Given the description of an element on the screen output the (x, y) to click on. 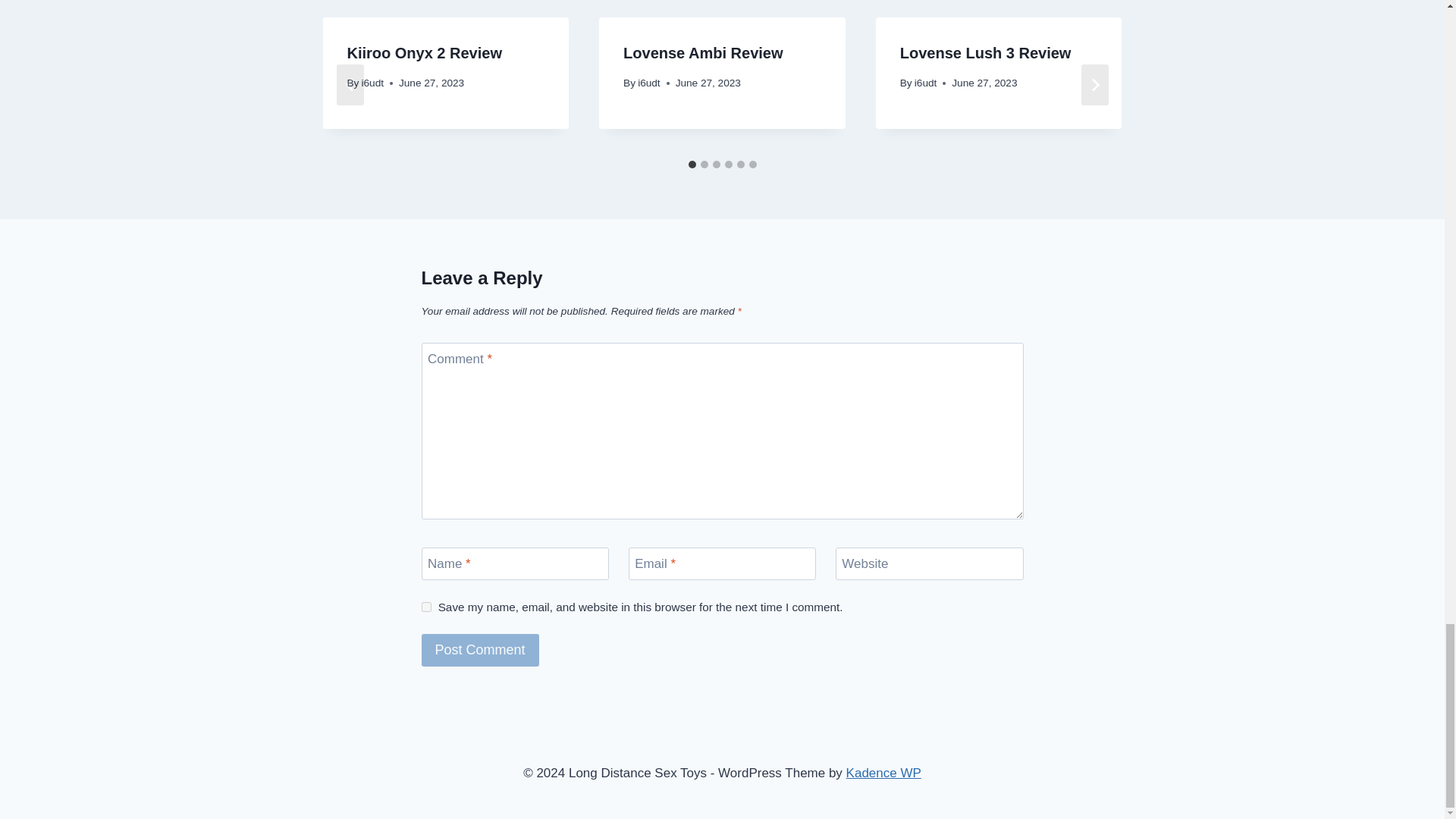
yes (426, 606)
Post Comment (480, 649)
